Given the description of an element on the screen output the (x, y) to click on. 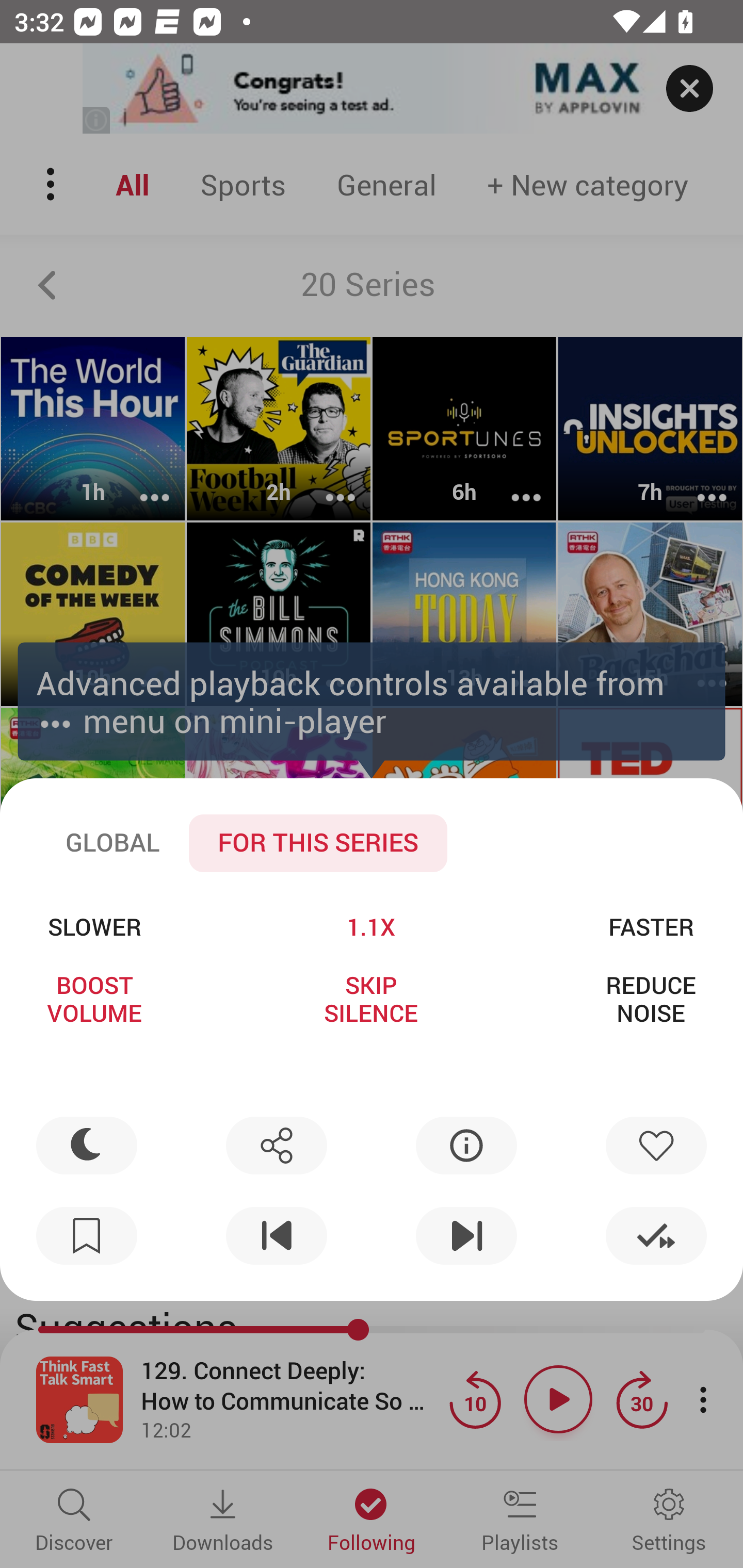
GLOBAL (112, 842)
FOR THIS SERIES (317, 842)
SLOWER (94, 926)
1.1X (370, 926)
FASTER (650, 926)
BOOST
VOLUME (94, 998)
SKIP
SILENCE (370, 998)
REDUCE
NOISE (650, 998)
Sleep timer (86, 1145)
Share (275, 1145)
Info (466, 1145)
Like (655, 1145)
New bookmark … (86, 1236)
Previous (275, 1236)
Next (466, 1236)
Mark played and next (655, 1236)
